Given the description of an element on the screen output the (x, y) to click on. 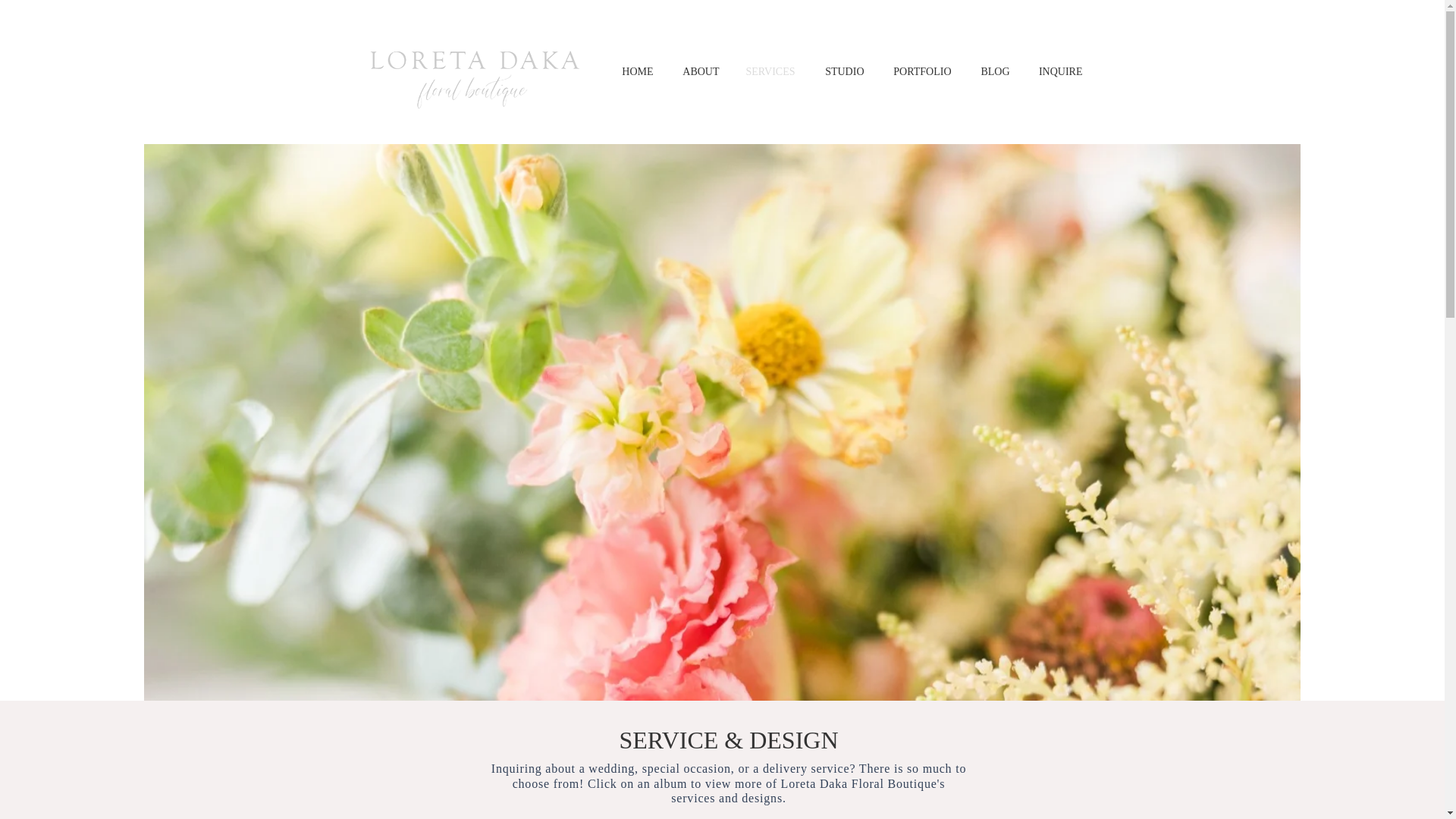
STUDIO (841, 71)
BLOG (992, 71)
PORTFOLIO (918, 71)
ABOUT (696, 71)
INQUIRE (1056, 71)
HOME (632, 71)
SERVICES (768, 71)
